Given the description of an element on the screen output the (x, y) to click on. 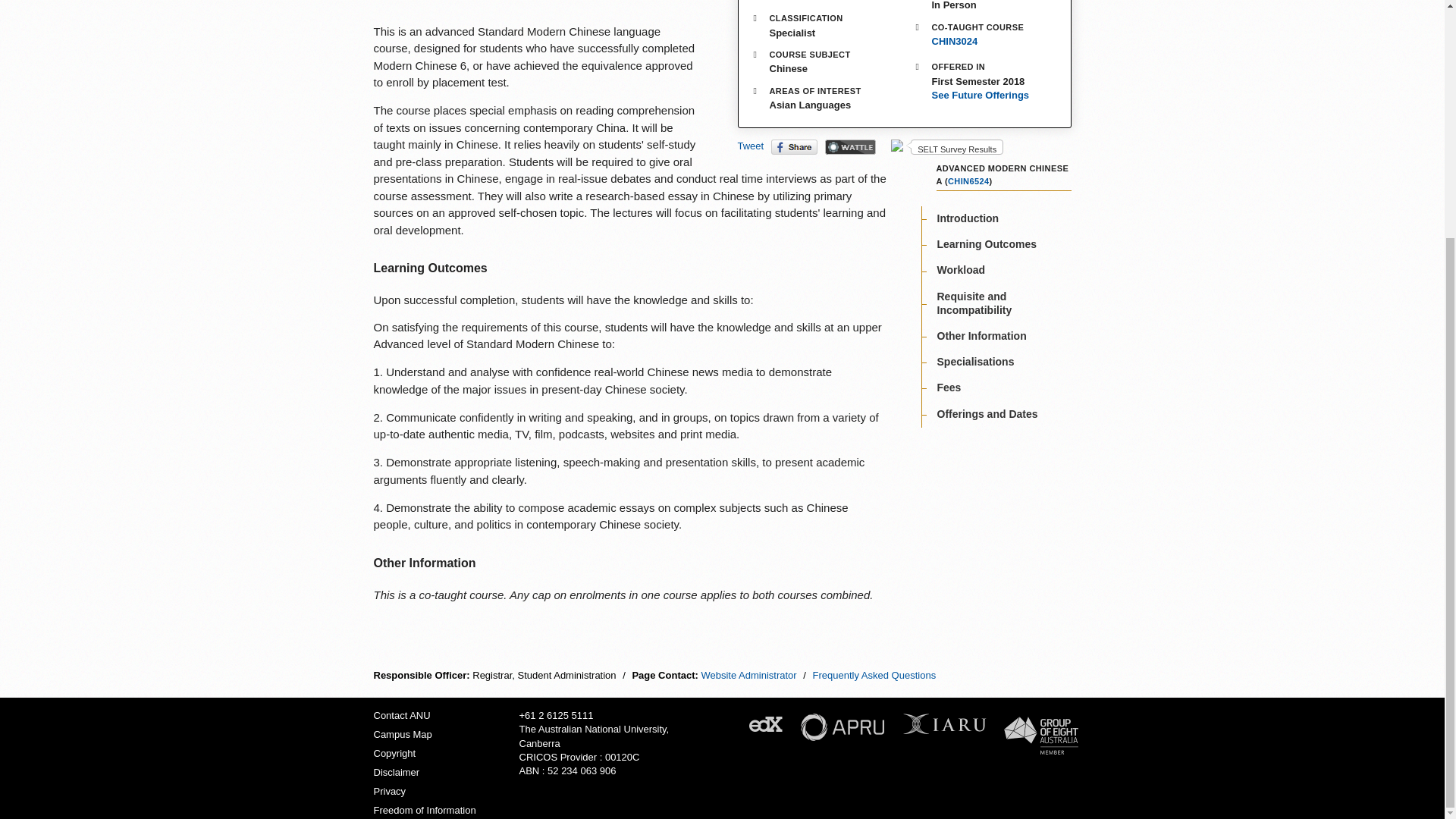
Share on Facebook (793, 146)
CHIN6524 (968, 180)
Wattle Share (850, 146)
Tweet (749, 145)
CHIN3024 (953, 41)
See Future Offerings (985, 95)
